Given the description of an element on the screen output the (x, y) to click on. 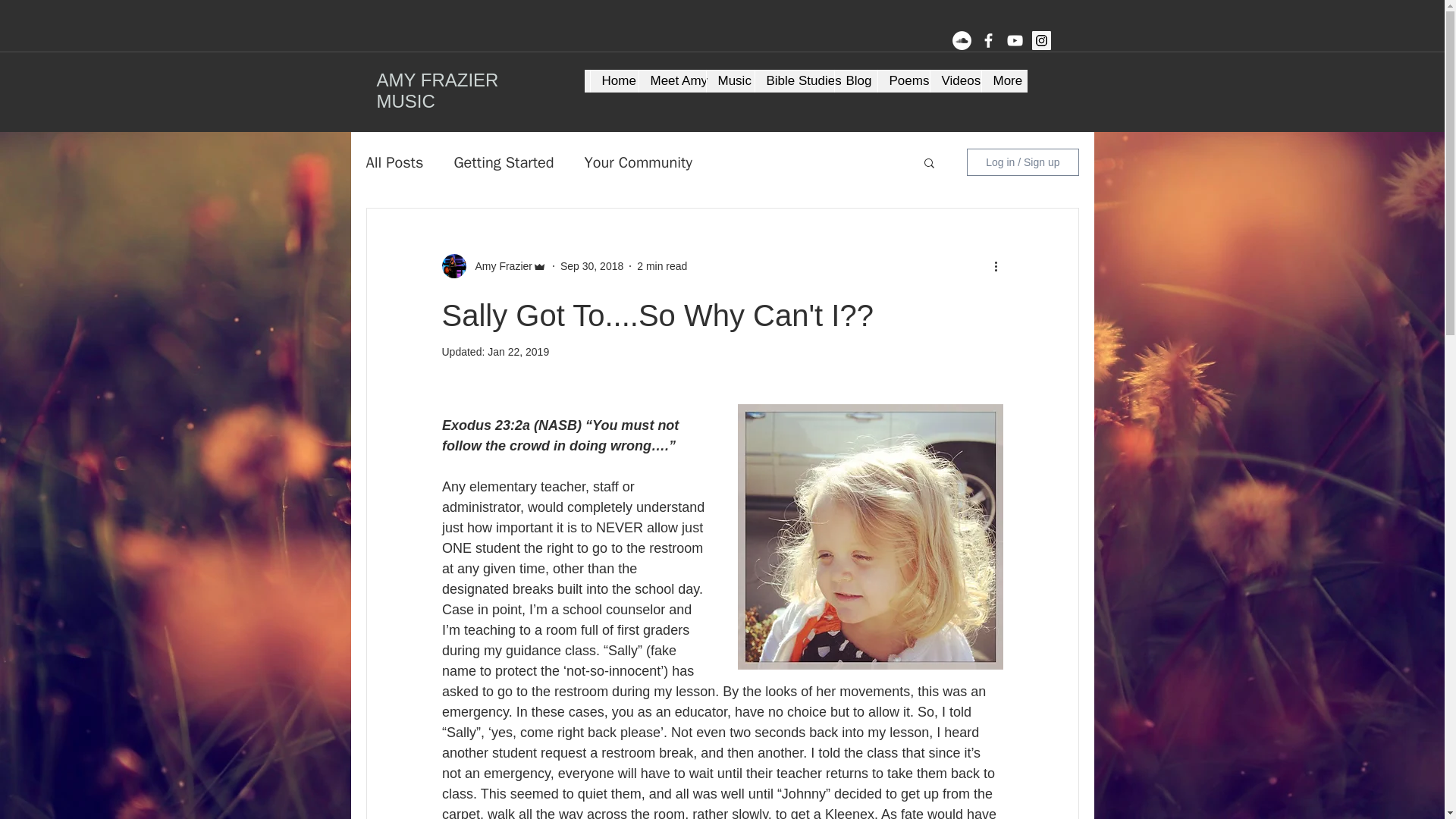
Videos (955, 80)
Jan 22, 2019 (517, 351)
Blog (855, 80)
Getting Started (502, 161)
All Posts (394, 161)
Amy Frazier (498, 265)
2 min read (662, 265)
Sep 30, 2018 (591, 265)
Bible Studies (793, 80)
Meet Amy (672, 80)
